Given the description of an element on the screen output the (x, y) to click on. 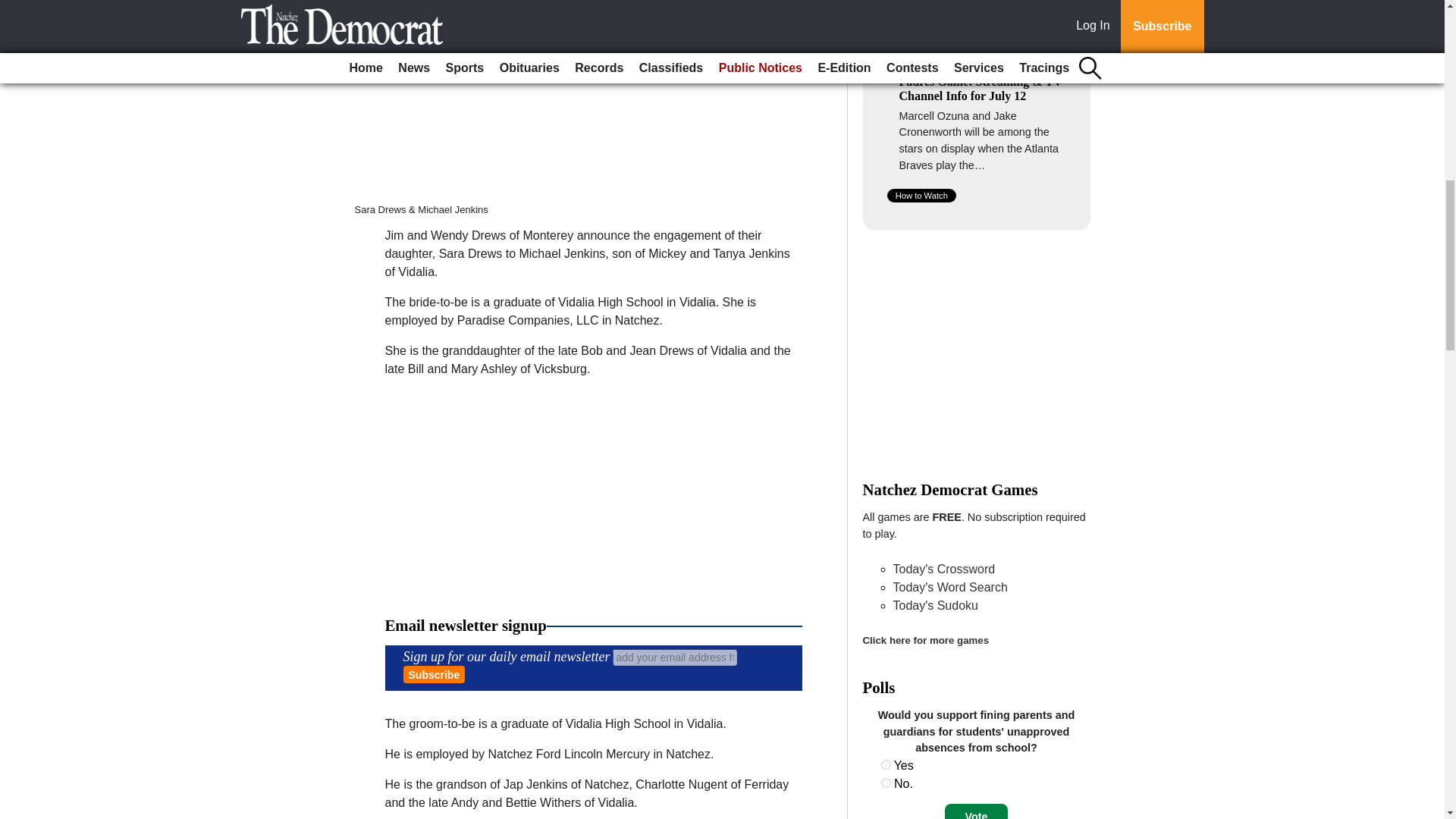
22422 (885, 782)
   Vote    (975, 811)
Subscribe (434, 674)
22421 (885, 764)
Subscribe (434, 674)
